Given the description of an element on the screen output the (x, y) to click on. 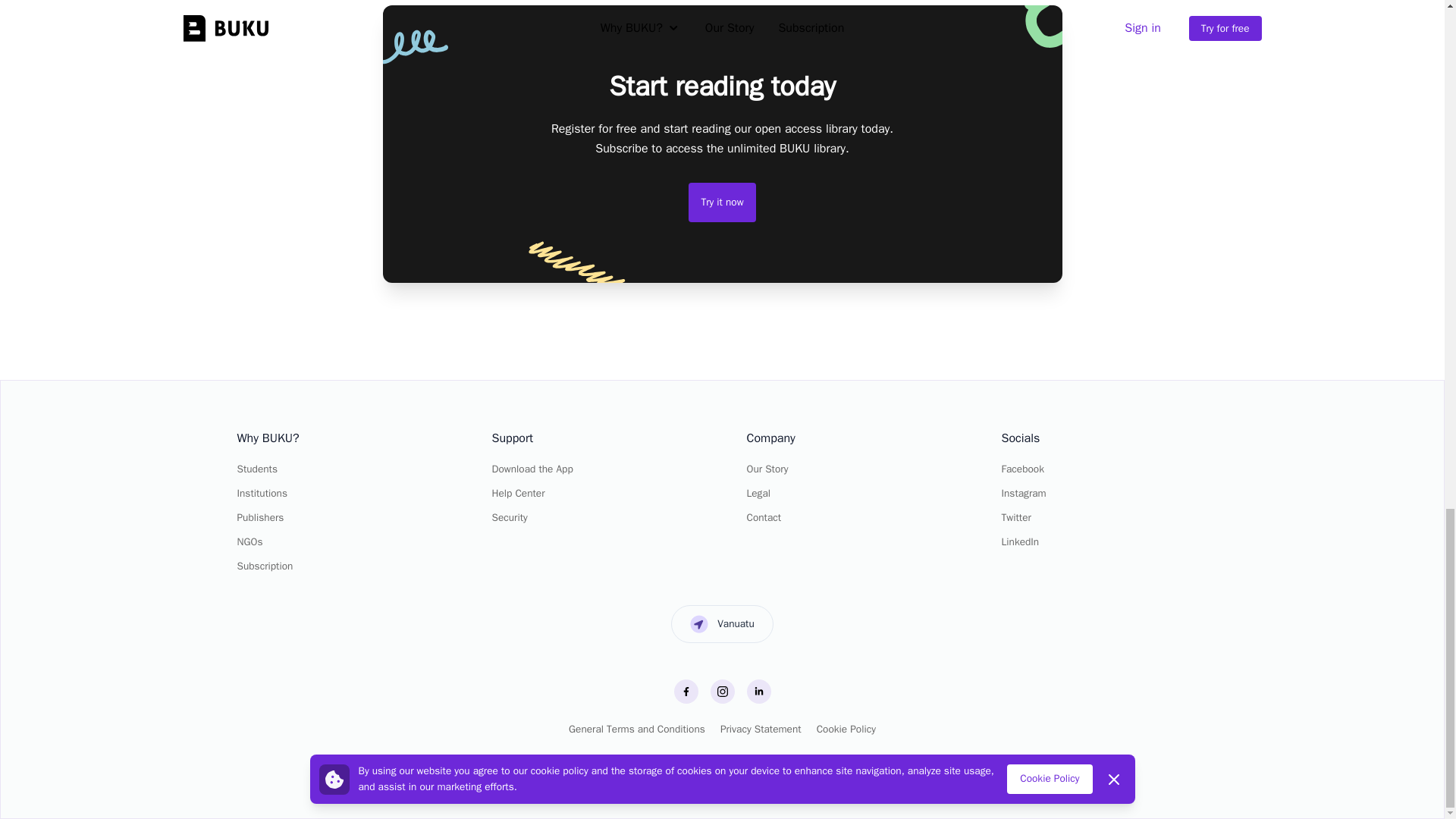
Publishers (259, 517)
Security (509, 517)
Facebook (1022, 468)
Subscription (263, 565)
Legal (757, 492)
Twitter (1015, 517)
Help Center (518, 492)
Contact (762, 517)
Download the App (532, 468)
Institutions (260, 492)
